Given the description of an element on the screen output the (x, y) to click on. 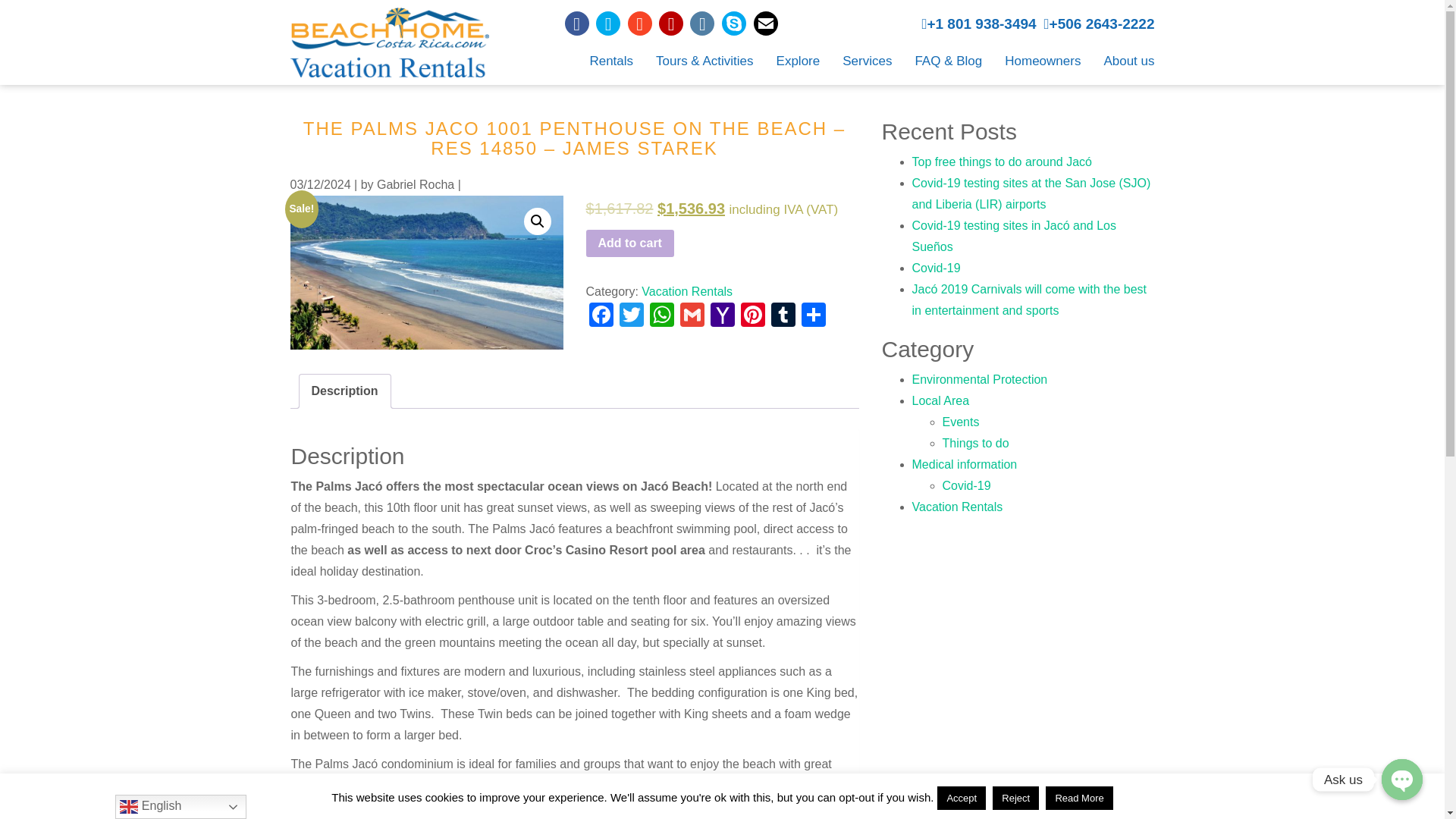
Pinterest (751, 316)
mn-slider-4 (425, 272)
Twitter (630, 316)
Yahoo Mail (721, 316)
Facebook (600, 316)
Tumblr (782, 316)
WhatsApp (661, 316)
Gmail (691, 316)
